Given the description of an element on the screen output the (x, y) to click on. 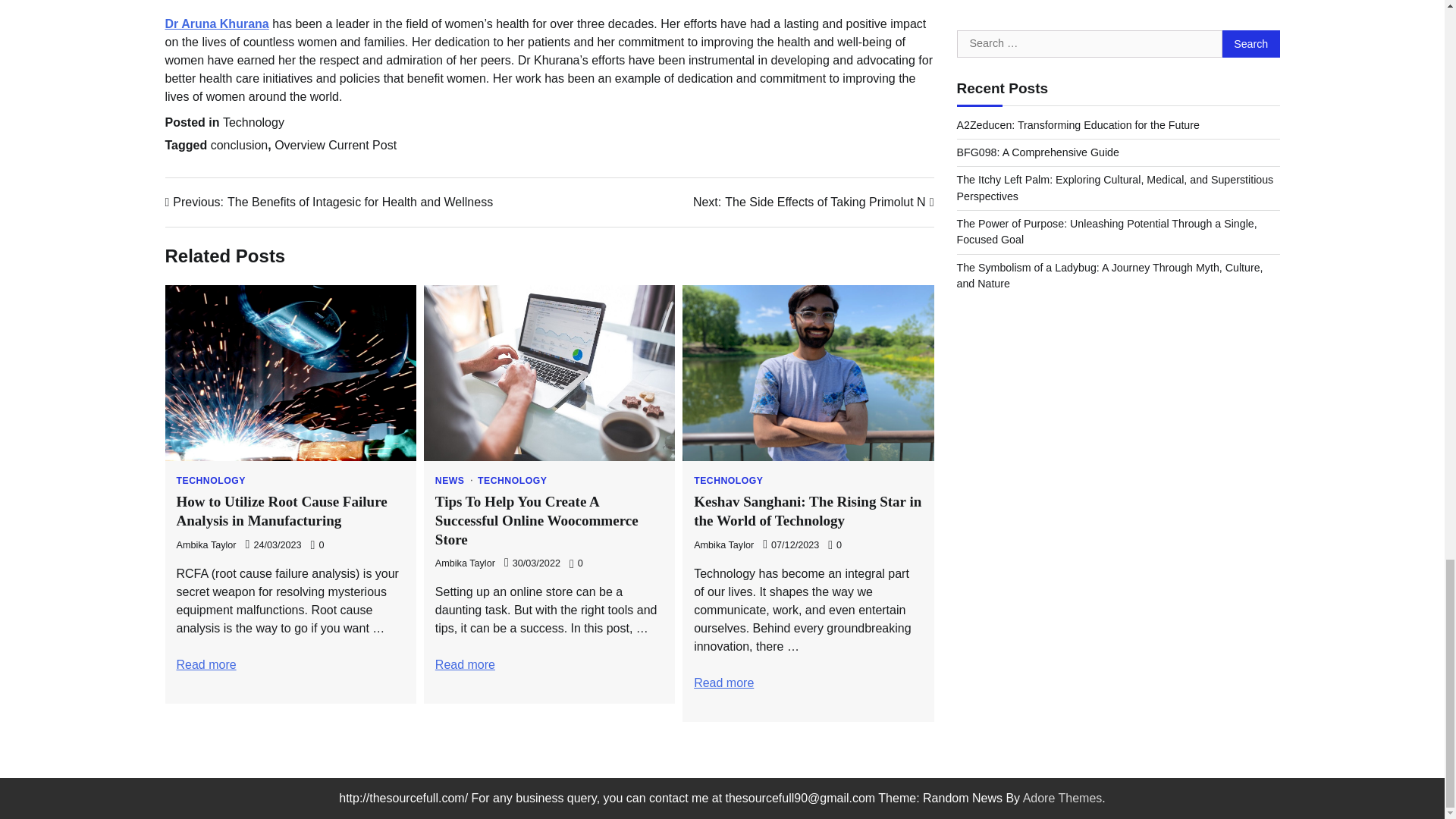
Keshav Sanghani: The Rising Star in the World of Technology (724, 682)
How to Utilize Root Cause Failure Analysis in Manufacturing (205, 664)
